Given the description of an element on the screen output the (x, y) to click on. 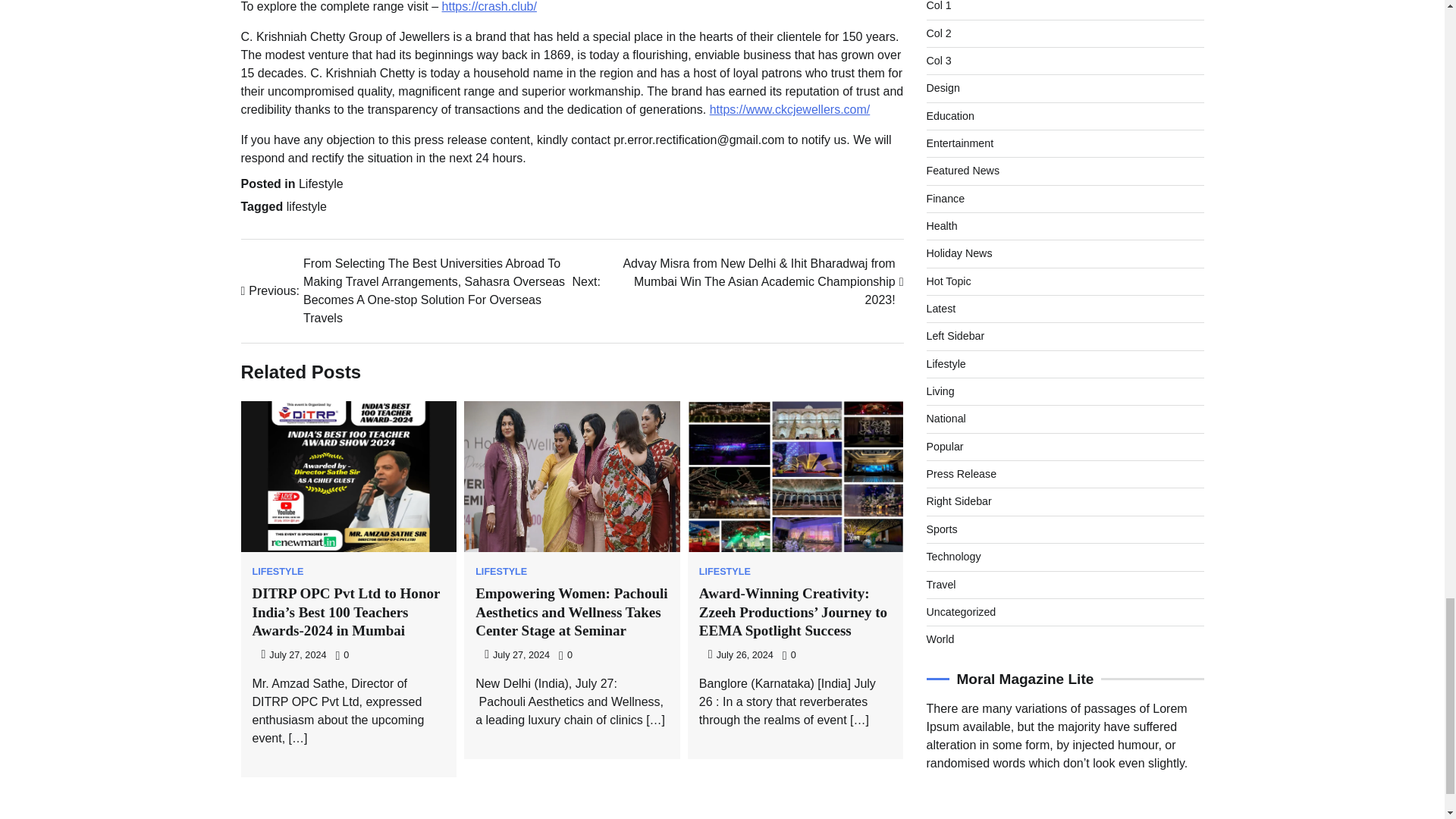
LIFESTYLE (724, 572)
lifestyle (306, 205)
LIFESTYLE (276, 572)
LIFESTYLE (501, 572)
Lifestyle (320, 183)
